Given the description of an element on the screen output the (x, y) to click on. 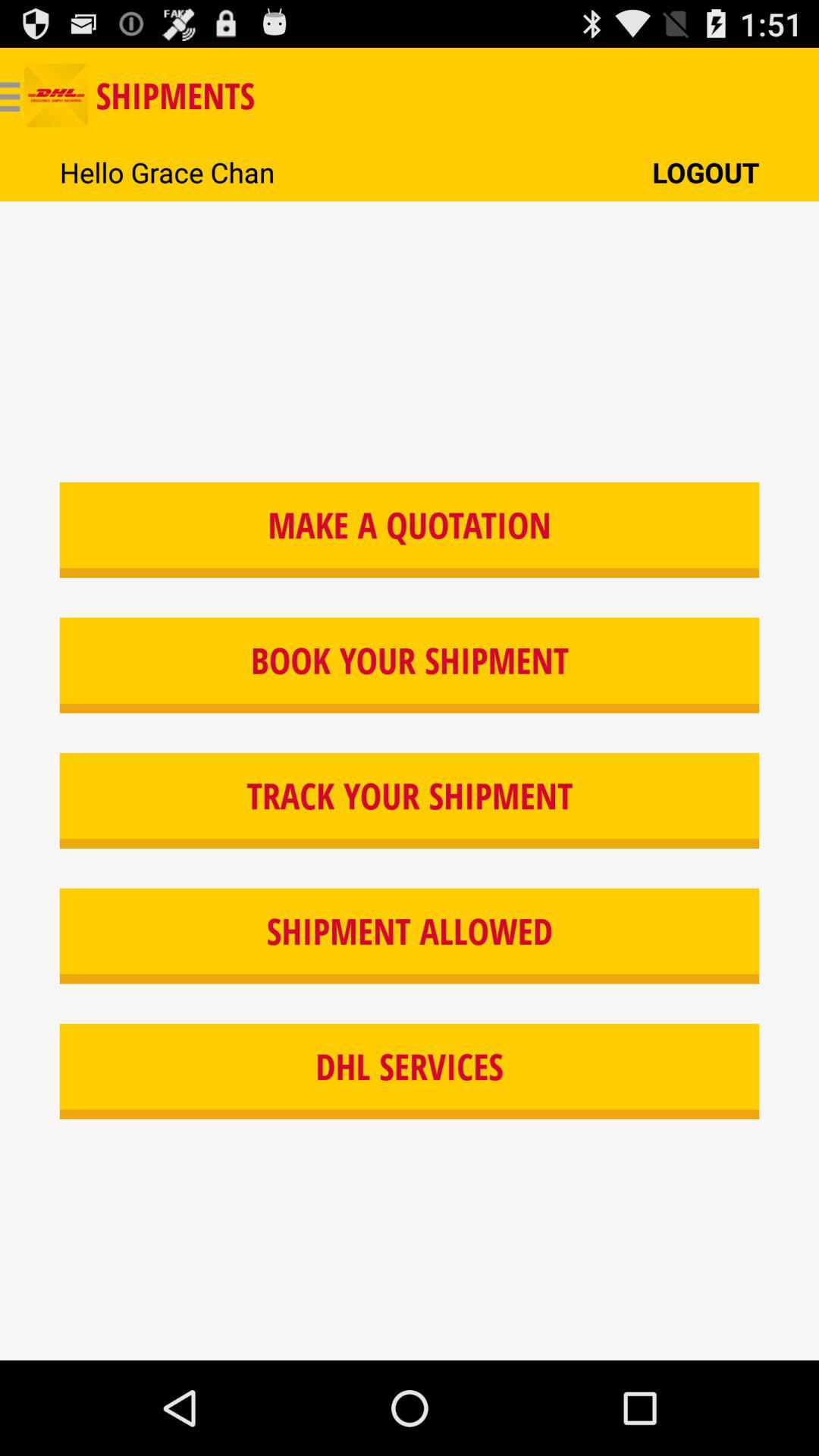
tap the app to the right of the hello grace chan app (705, 172)
